Given the description of an element on the screen output the (x, y) to click on. 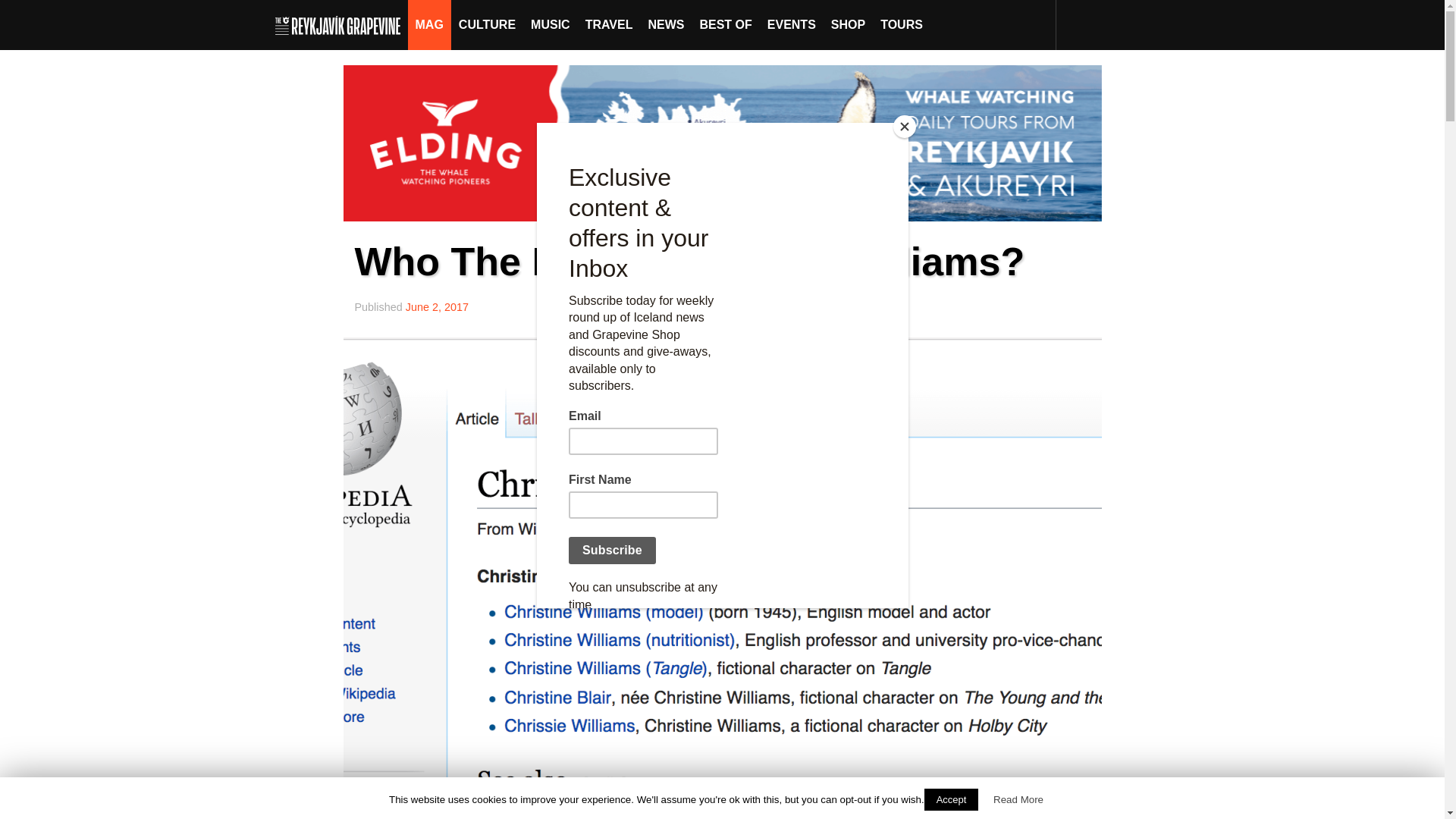
EVENTS (792, 24)
NEWS (665, 24)
CULTURE (486, 24)
TRAVEL (609, 24)
MUSIC (550, 24)
The Reykjavik Grapevine (341, 24)
BEST OF (724, 24)
SHOP (848, 24)
TOURS (901, 24)
